Given the description of an element on the screen output the (x, y) to click on. 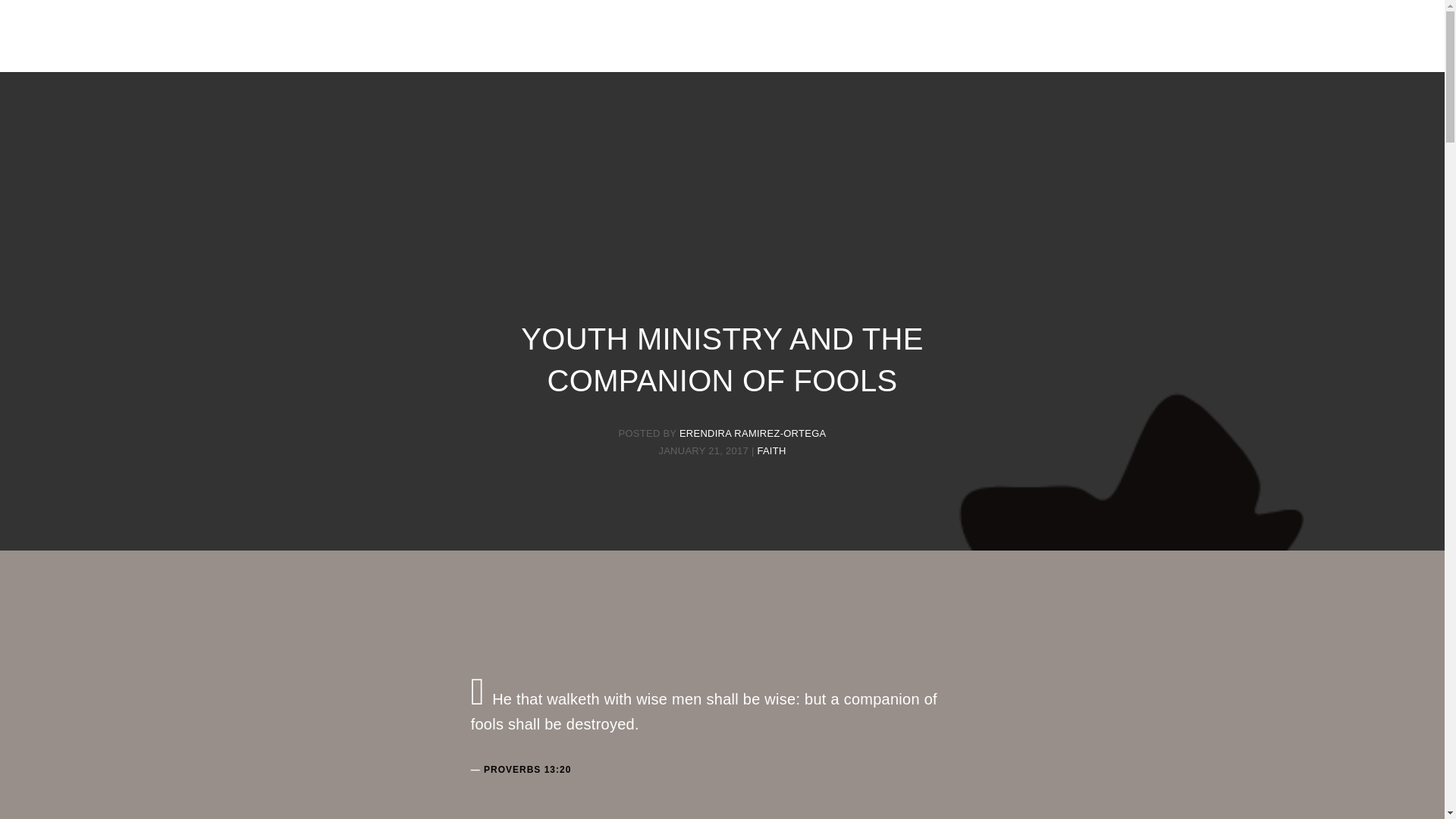
ABOUT (658, 49)
ERENDIRA RAMIREZ-ORTEGA (753, 432)
CONTACT (805, 49)
HOME (597, 49)
PROVERBS 13:20 (526, 769)
ERENDIRA RAMIREZ-ORTEGA (722, 20)
WRITINGS (728, 49)
FAITH (771, 450)
